Given the description of an element on the screen output the (x, y) to click on. 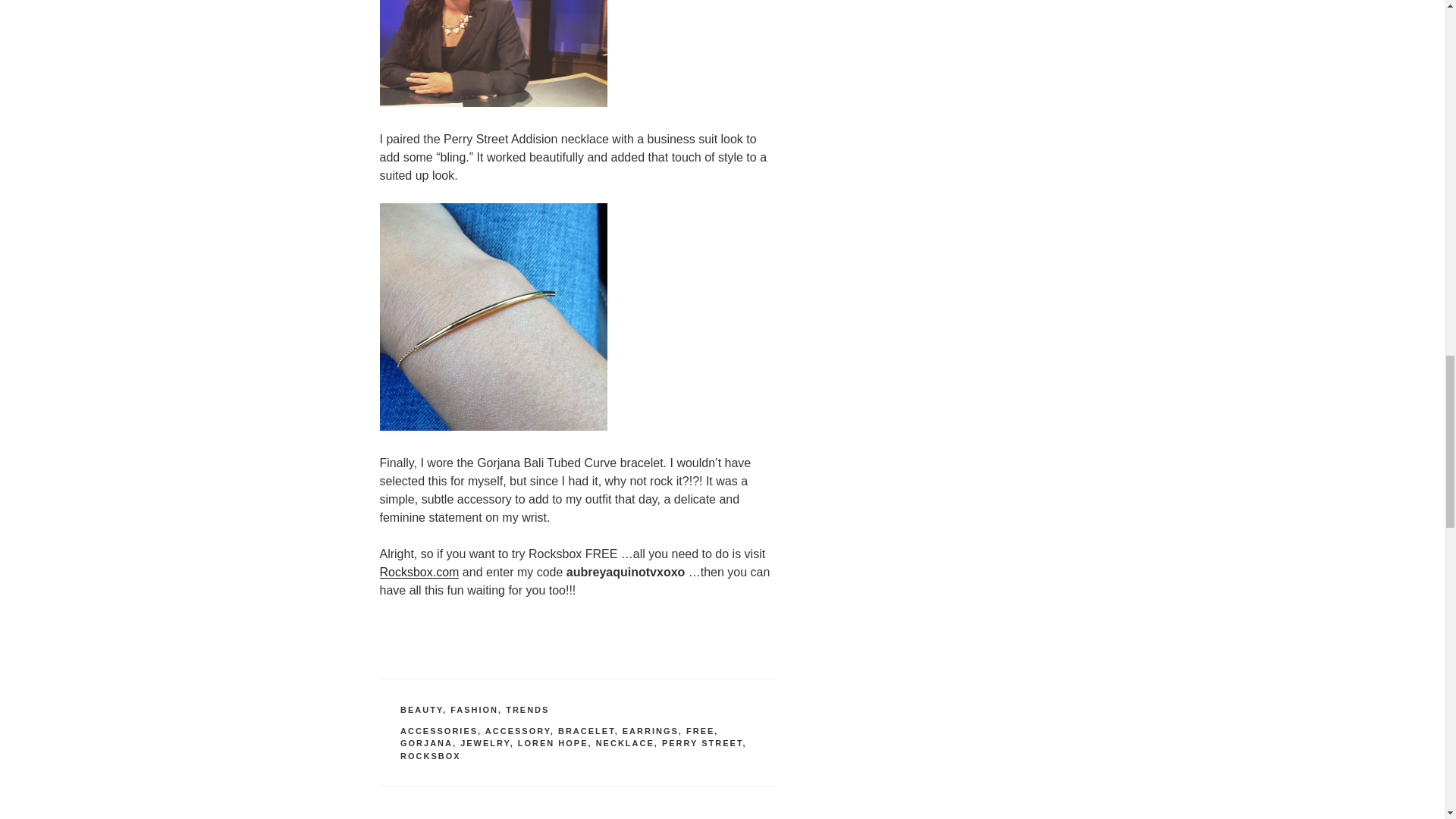
JEWELRY (485, 742)
Rocksbox.com (418, 571)
ROCKSBOX (430, 755)
PERRY STREET (702, 742)
BRACELET (585, 730)
NECKLACE (624, 742)
GORJANA (426, 742)
ACCESSORY (517, 730)
FREE (699, 730)
ACCESSORIES (438, 730)
TRENDS (526, 709)
BEAUTY (421, 709)
EARRINGS (650, 730)
LOREN HOPE (553, 742)
FASHION (473, 709)
